Given the description of an element on the screen output the (x, y) to click on. 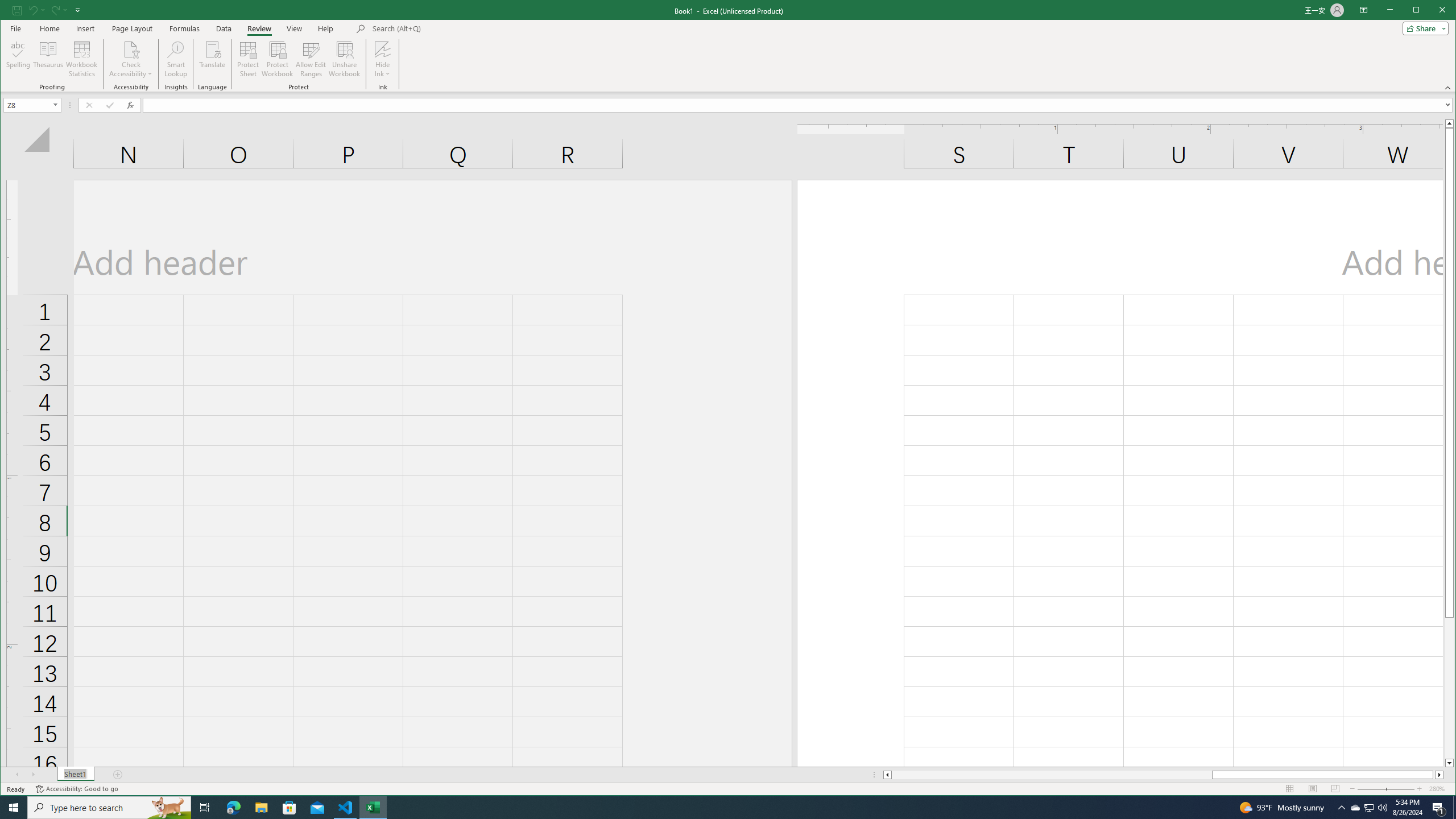
Protect Workbook... (277, 59)
Allow Edit Ranges (310, 59)
Excel - 1 running window (373, 807)
Microsoft Edge (233, 807)
